Given the description of an element on the screen output the (x, y) to click on. 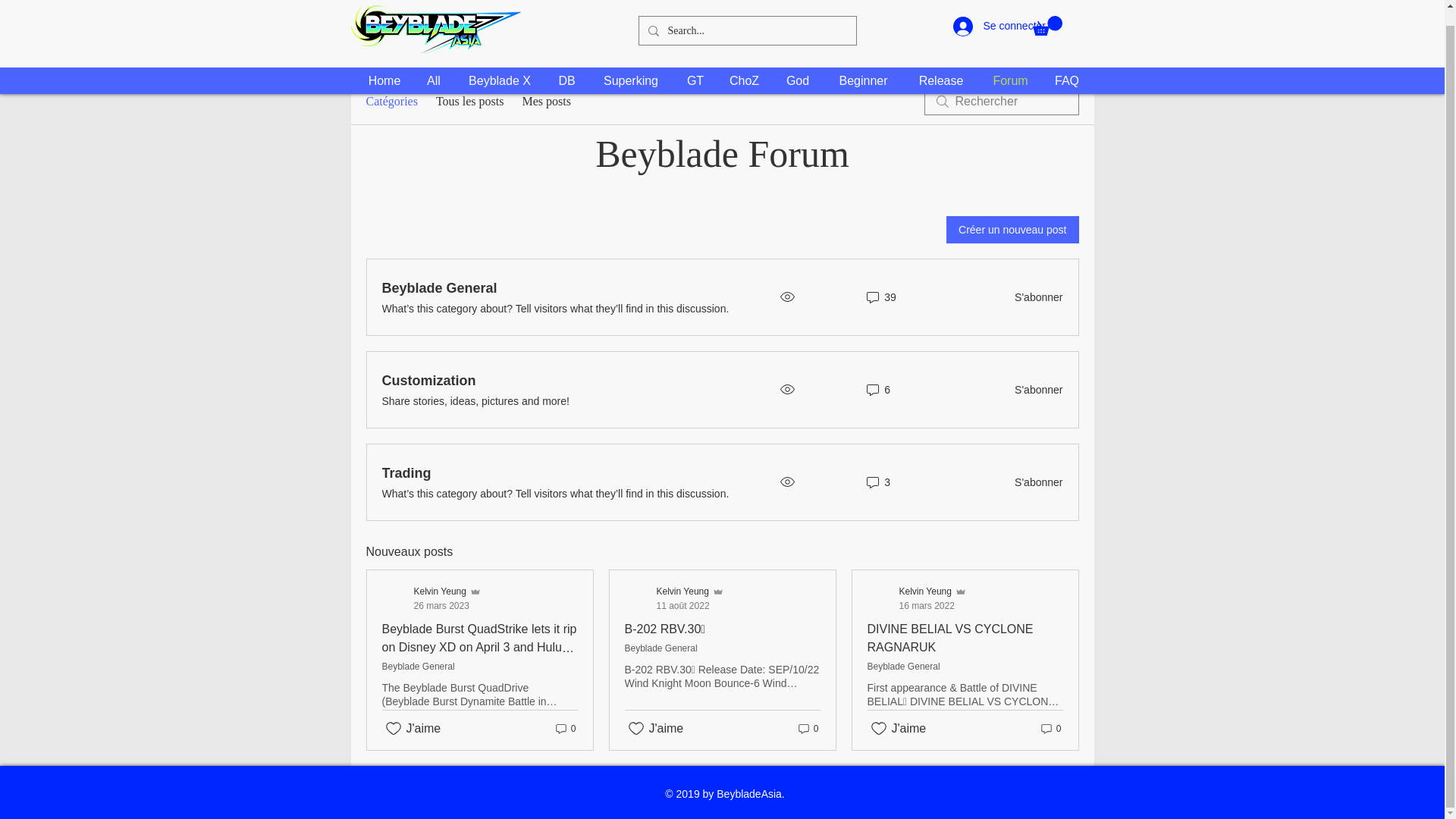
0 (1050, 728)
All (432, 65)
Customization (428, 381)
S'abonner (916, 597)
Superking (1034, 481)
DIVINE BELIAL VS CYCLONE RAGNARUK (630, 65)
Forum (950, 637)
S'abonner (1010, 65)
Mes posts (1034, 389)
Home (545, 101)
0 (383, 65)
GT (564, 728)
ChoZ (695, 65)
